Given the description of an element on the screen output the (x, y) to click on. 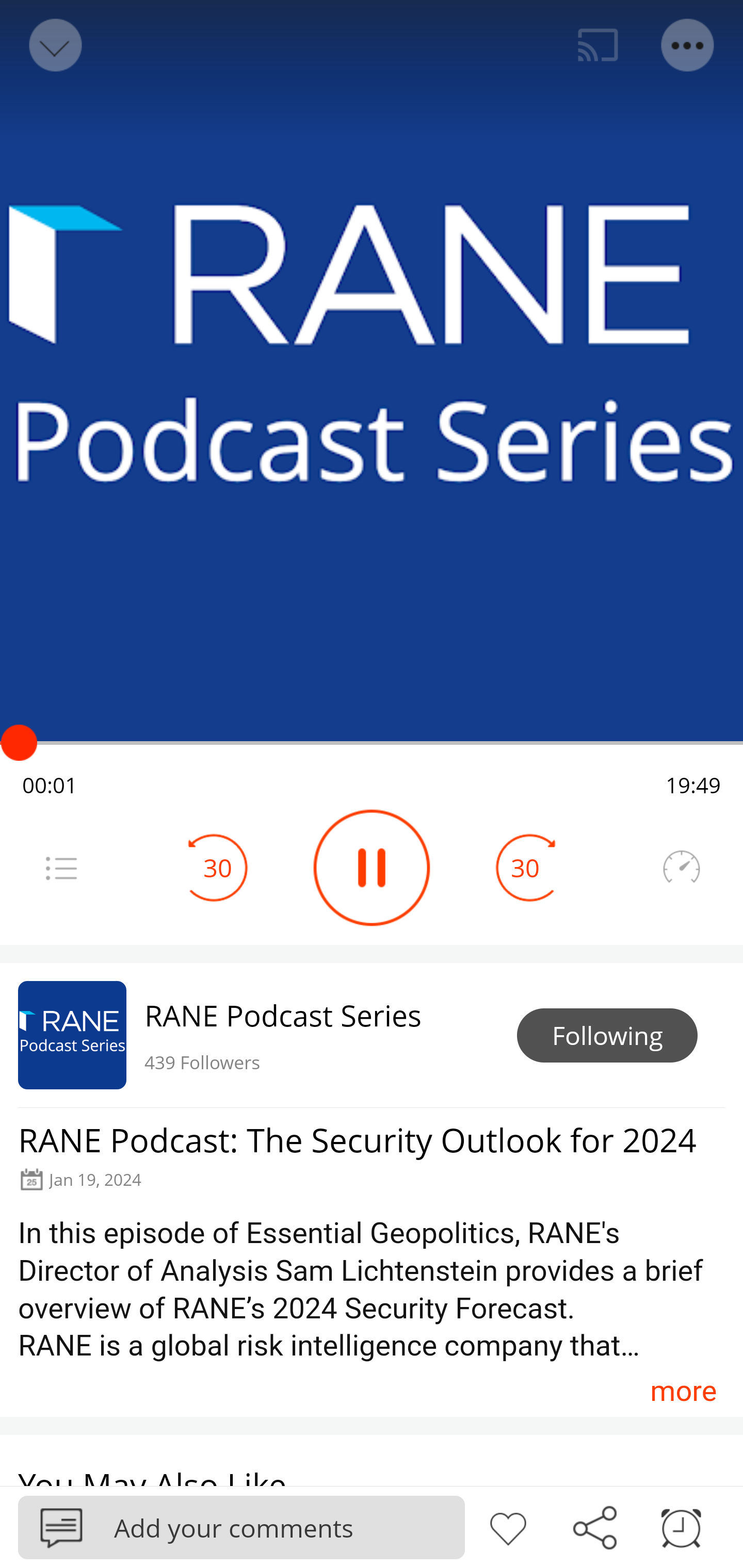
Back (53, 45)
Cast. Disconnected (597, 45)
Menu (688, 45)
Play (371, 867)
30 Seek Backward (217, 867)
30 Seek Forward (525, 867)
Menu (60, 867)
Speedometer (681, 867)
RANE Podcast Series 439 Followers Following (371, 1034)
Following (607, 1035)
more (682, 1390)
Like (508, 1526)
Share (594, 1526)
Sleep timer (681, 1526)
Podbean Add your comments (241, 1526)
